Given the description of an element on the screen output the (x, y) to click on. 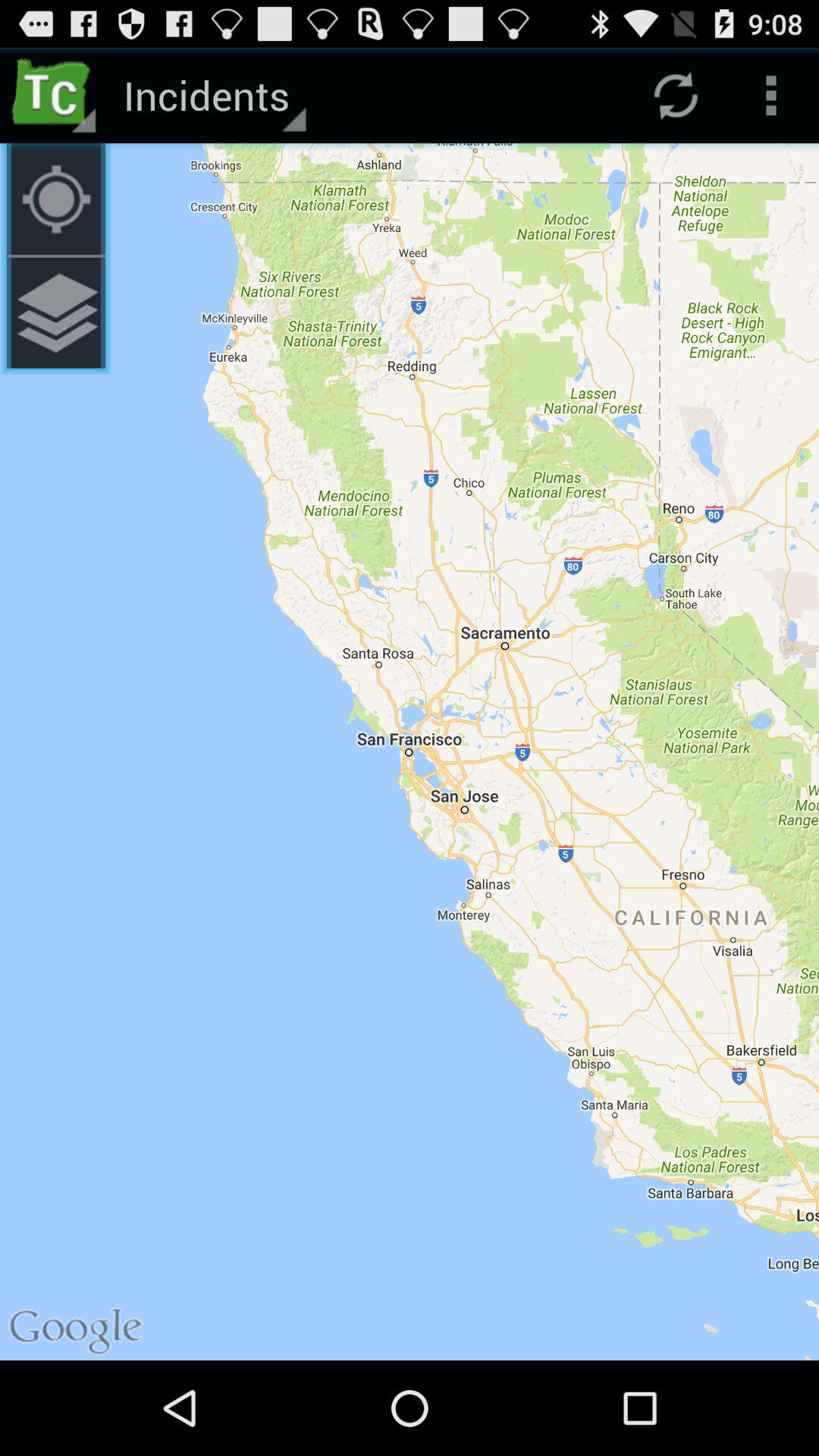
choose the incidents icon (212, 95)
